Given the description of an element on the screen output the (x, y) to click on. 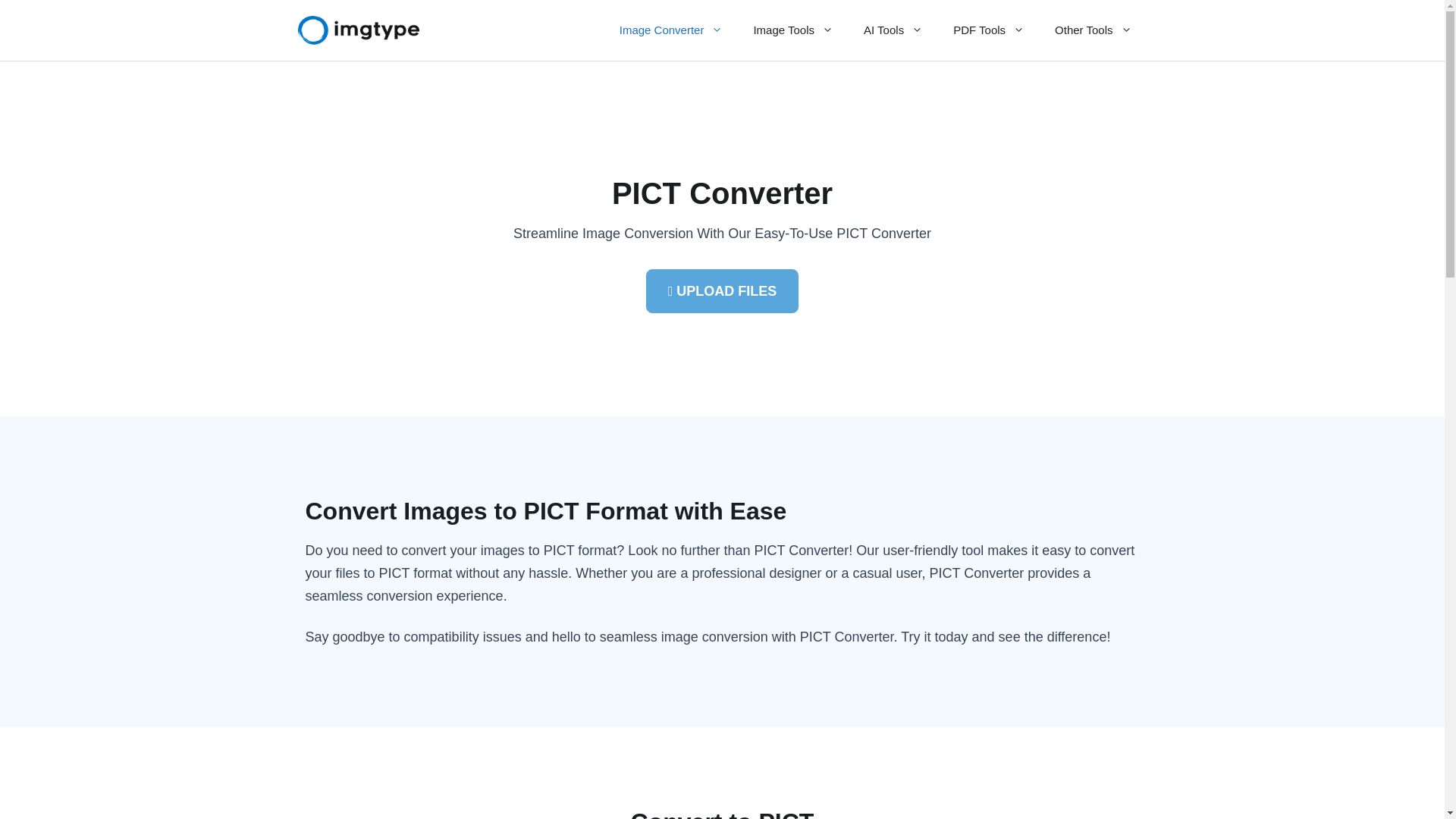
Image Converter (671, 30)
Image Tools (793, 30)
AI Tools (892, 30)
